Given the description of an element on the screen output the (x, y) to click on. 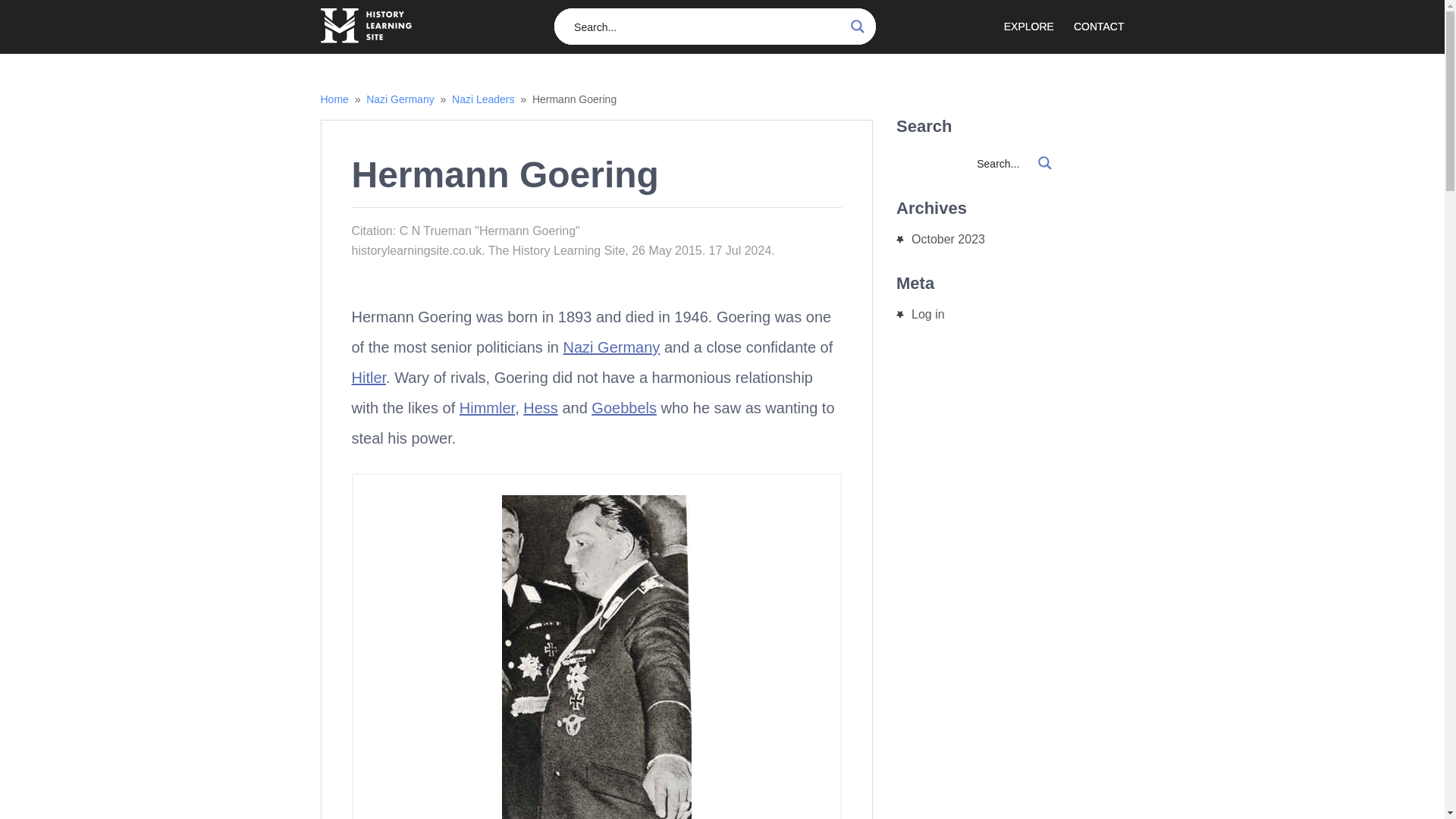
Log in (927, 314)
Goebbels (623, 407)
Home (333, 99)
Himmler (487, 407)
Nazi Germany (399, 99)
Hess (539, 407)
CONTACT (1099, 28)
Nazi Leaders (483, 99)
Nazi Leaders (483, 99)
Hitler (369, 377)
Nazi Germany (399, 99)
EXPLORE (1039, 28)
Nazi Germany (612, 347)
October 2023 (948, 238)
